Given the description of an element on the screen output the (x, y) to click on. 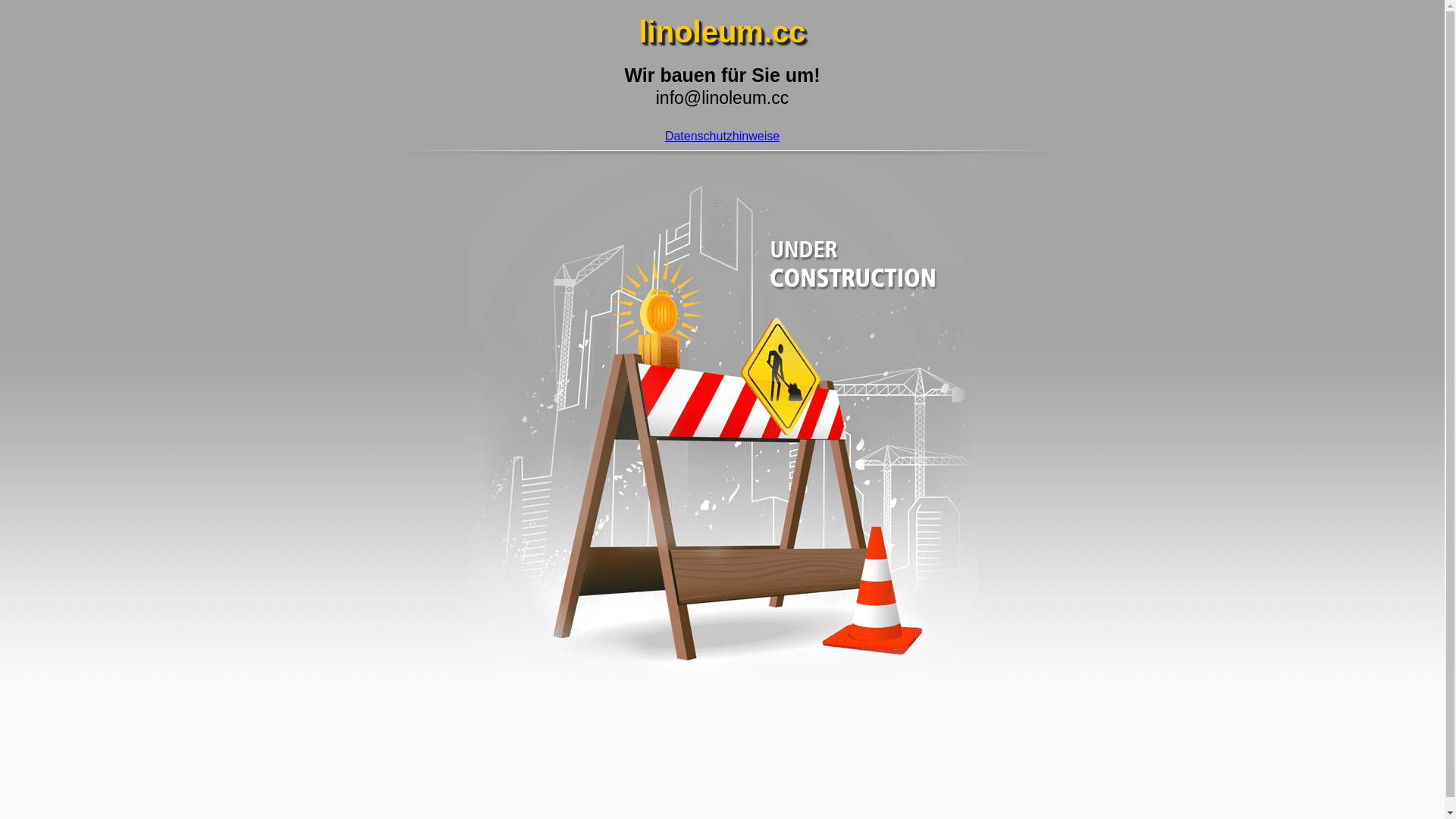
info@linoleum.cc Element type: text (721, 97)
Datenschutzhinweise Element type: text (722, 136)
